Given the description of an element on the screen output the (x, y) to click on. 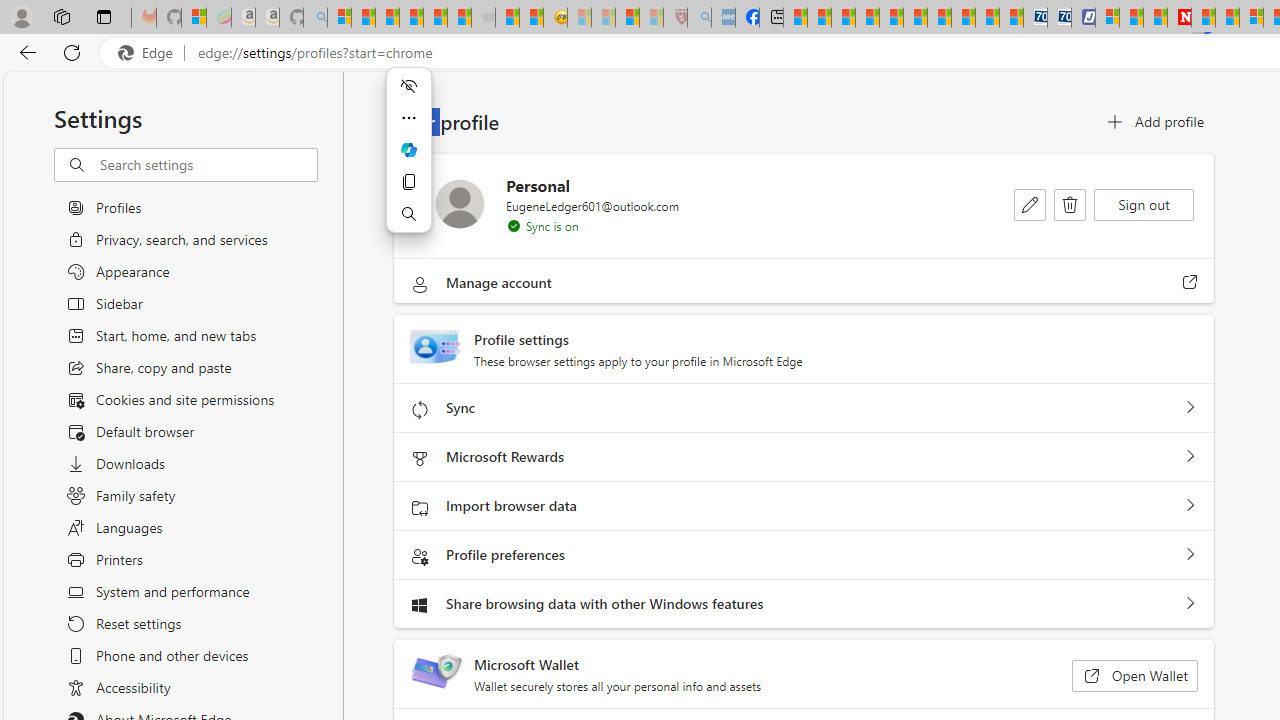
Microsoft Rewards (1190, 457)
Recipes - MSN - Sleeping (579, 17)
Import browser data (1190, 506)
MSNBC - MSN (795, 17)
Hide menu (408, 85)
Ask Copilot (408, 149)
Add profile (1153, 121)
Mini menu on text selection (408, 161)
12 Popular Science Lies that Must be Corrected - Sleeping (651, 17)
Sync (1190, 408)
Trusted Community Engagement and Contributions | Guidelines (1202, 17)
